Given the description of an element on the screen output the (x, y) to click on. 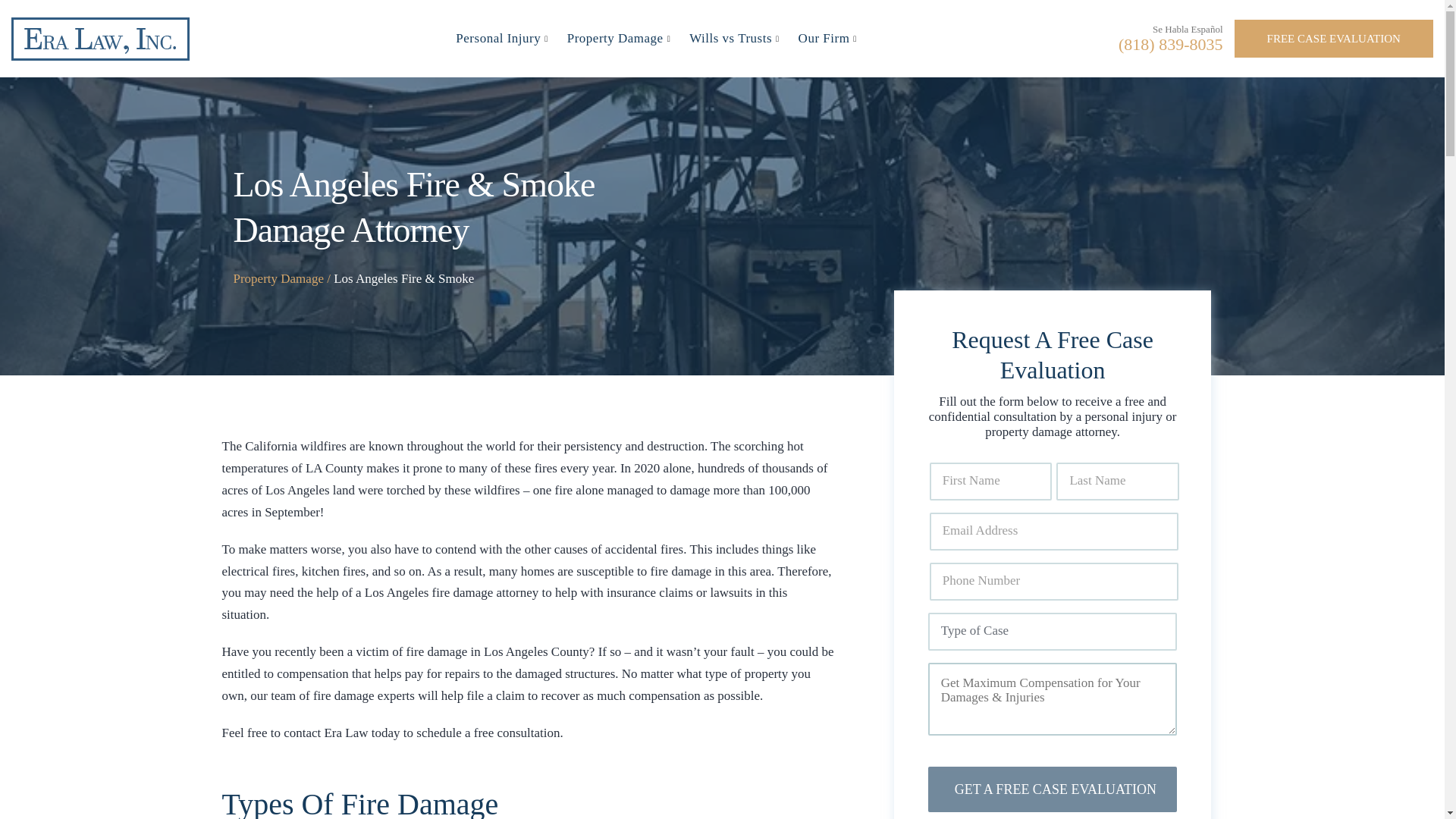
Property Damage (620, 38)
Get A Free Case Evaluation (1052, 789)
Personal Injury (503, 38)
FREE CASE EVALUATION (1334, 38)
Get A Free Case Evaluation (1052, 789)
Wills vs Trusts (735, 38)
